Given the description of an element on the screen output the (x, y) to click on. 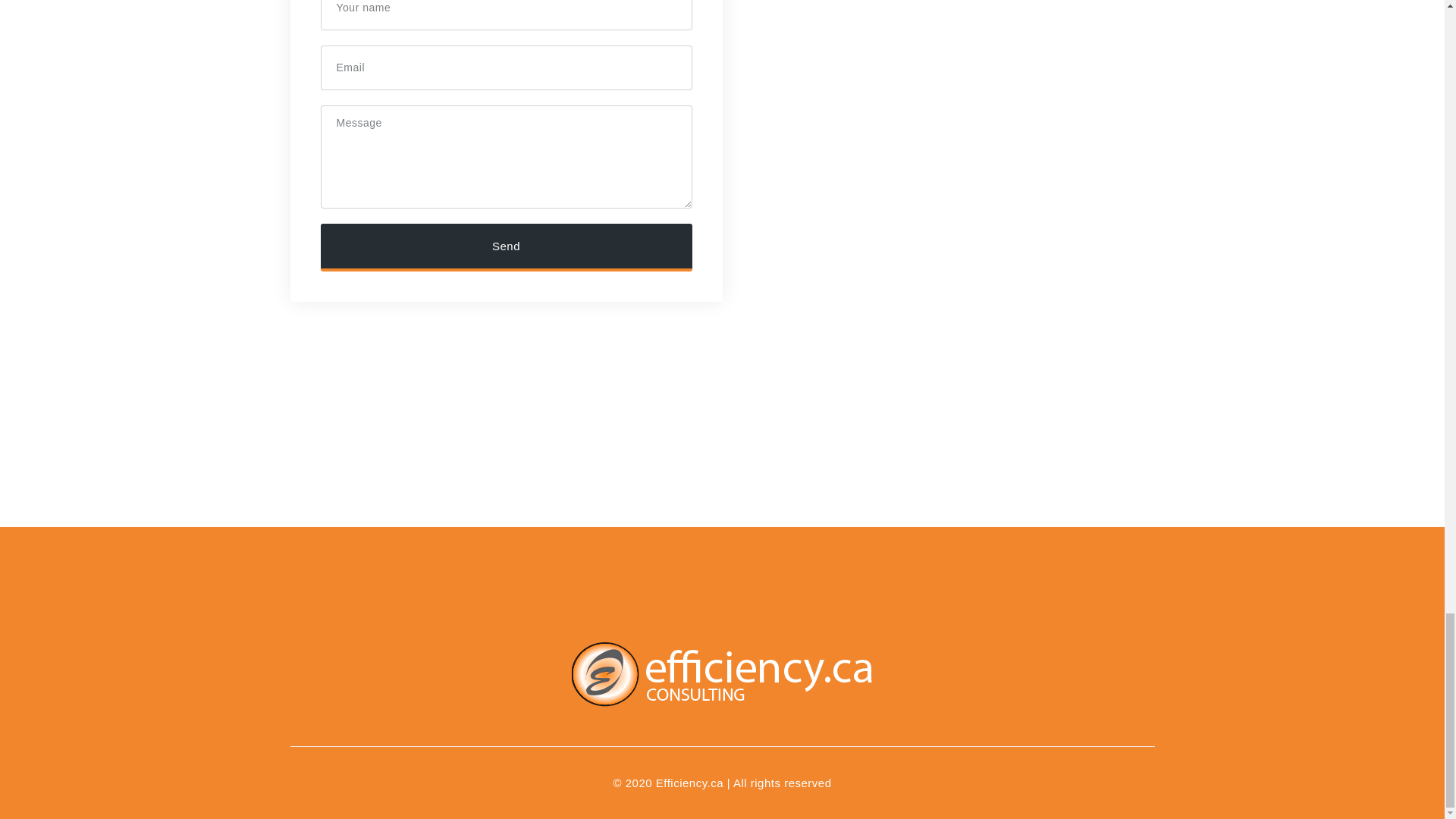
Send (505, 247)
